Given the description of an element on the screen output the (x, y) to click on. 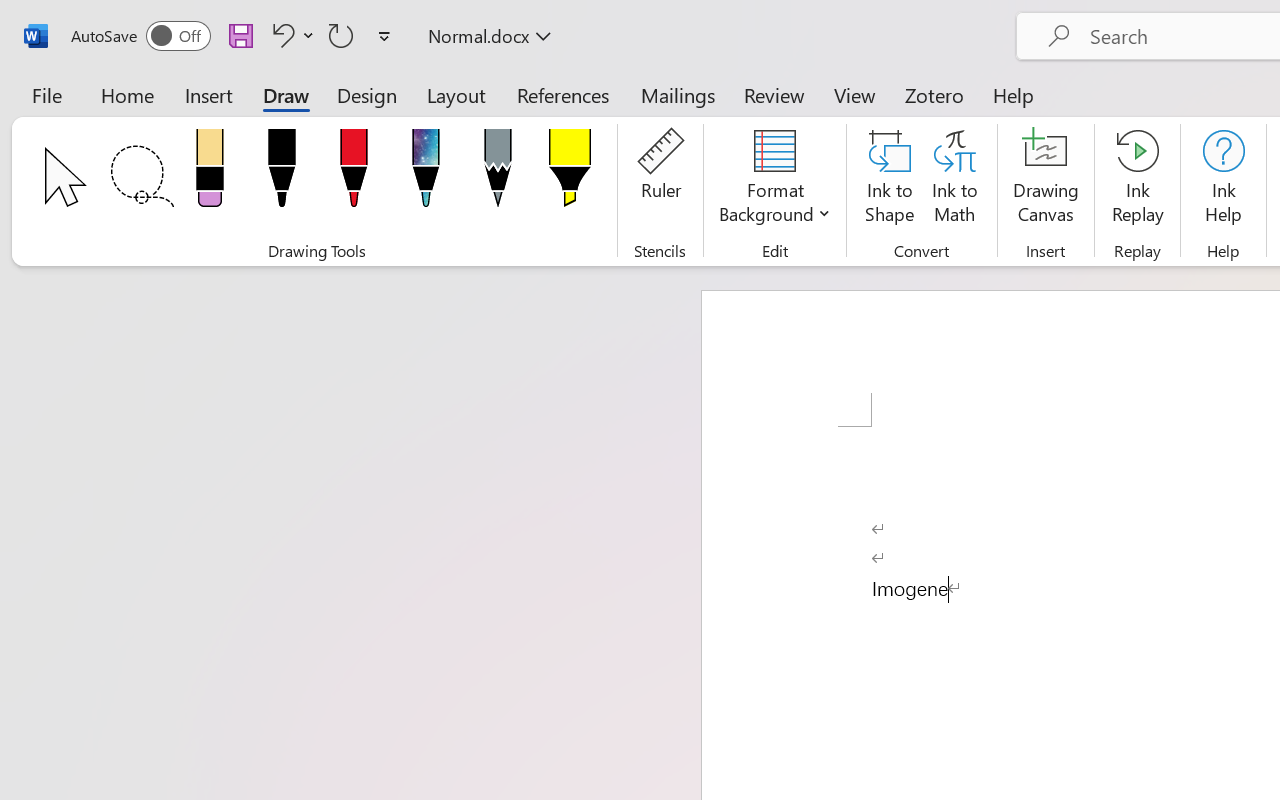
Ink Replay (1137, 179)
Undo Paragraph Formatting (290, 35)
Drawing Canvas (1045, 179)
Pen: Galaxy, 1 mm (426, 173)
Ink Help (1223, 179)
